Given the description of an element on the screen output the (x, y) to click on. 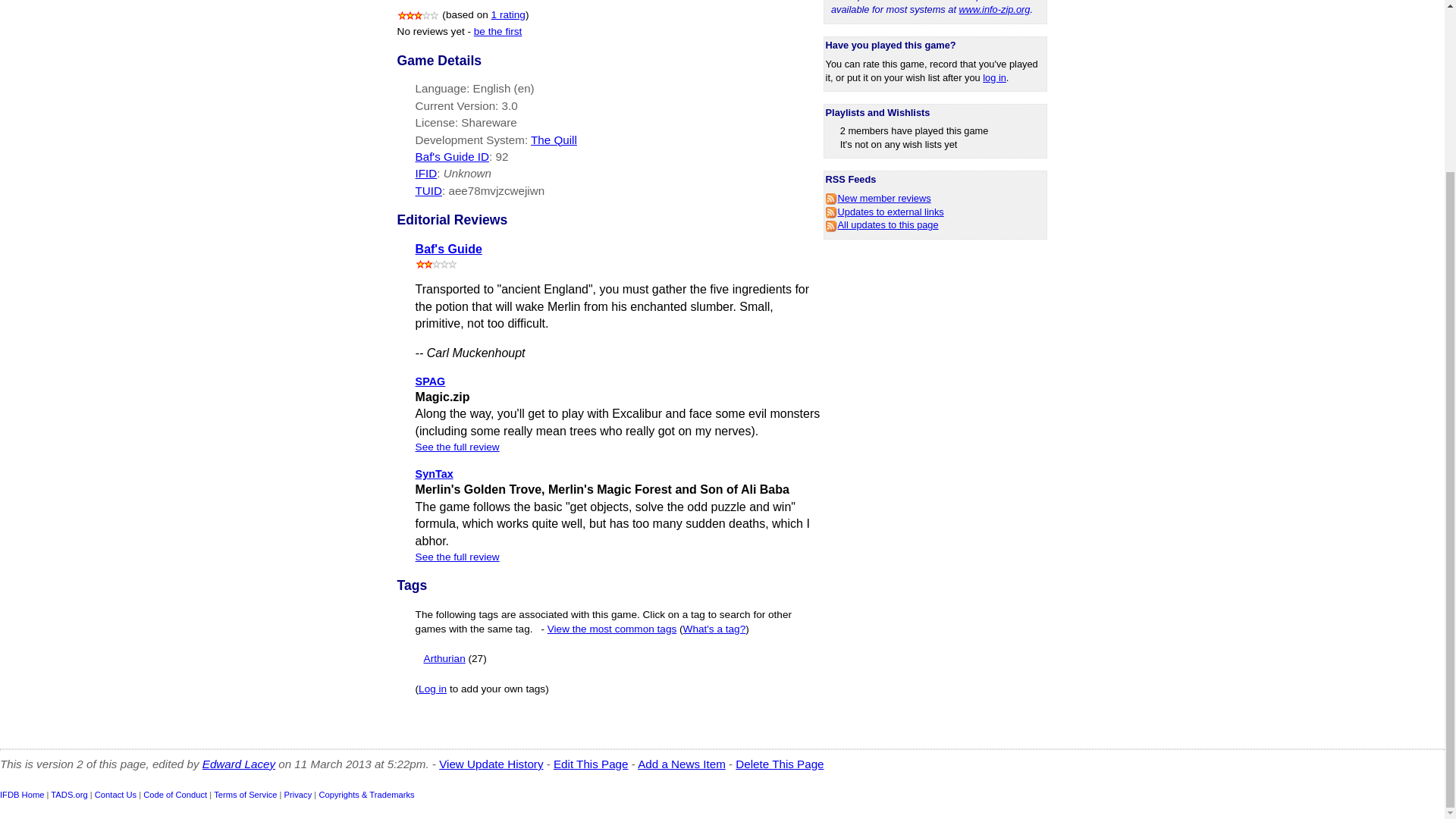
New member reviews (878, 197)
Updates to external links (884, 211)
SynTax (433, 473)
Go to Baf's Guide to the IF Archive (447, 248)
TUID (428, 190)
Log in (432, 688)
27 games have this tag (477, 658)
Baf's Guide (447, 248)
See the full review (456, 556)
View all ratings and reviews for this game (508, 14)
It's not on any wish lists yet (899, 143)
View Update History (491, 763)
1 rating (508, 14)
The Quill (553, 139)
SPAG (429, 381)
